Given the description of an element on the screen output the (x, y) to click on. 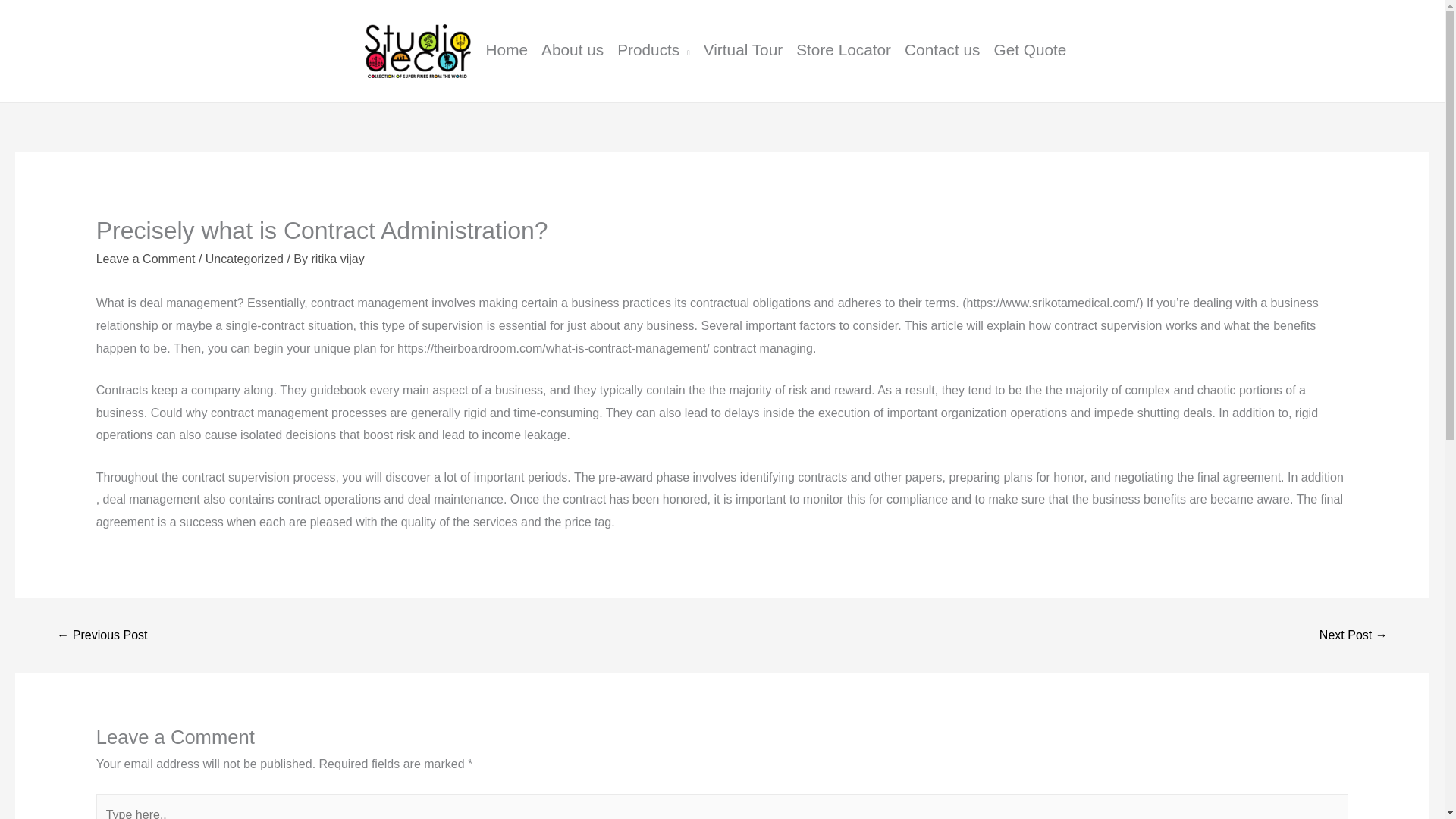
Products (660, 49)
View all posts by ritika vijay (337, 258)
About us (579, 49)
Home (513, 49)
